Given the description of an element on the screen output the (x, y) to click on. 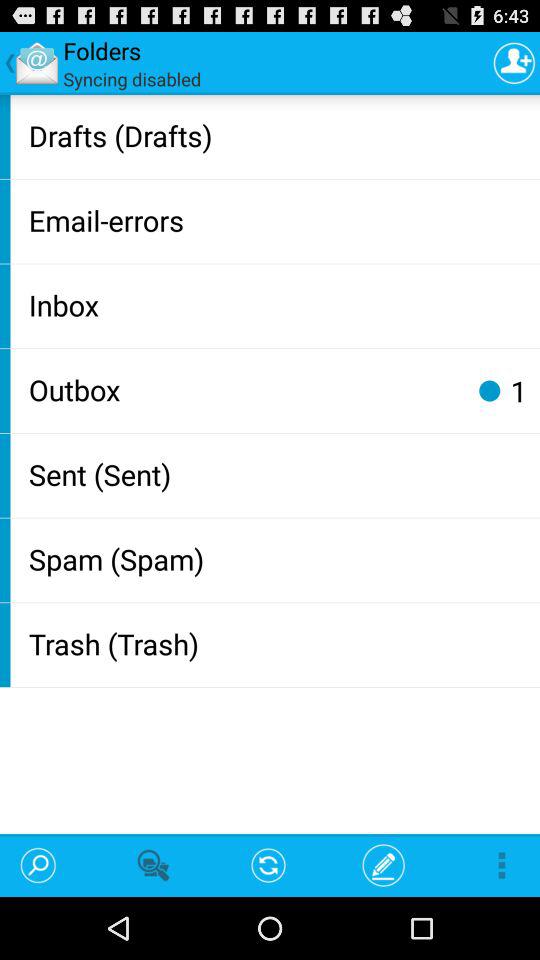
add account (514, 62)
